Given the description of an element on the screen output the (x, y) to click on. 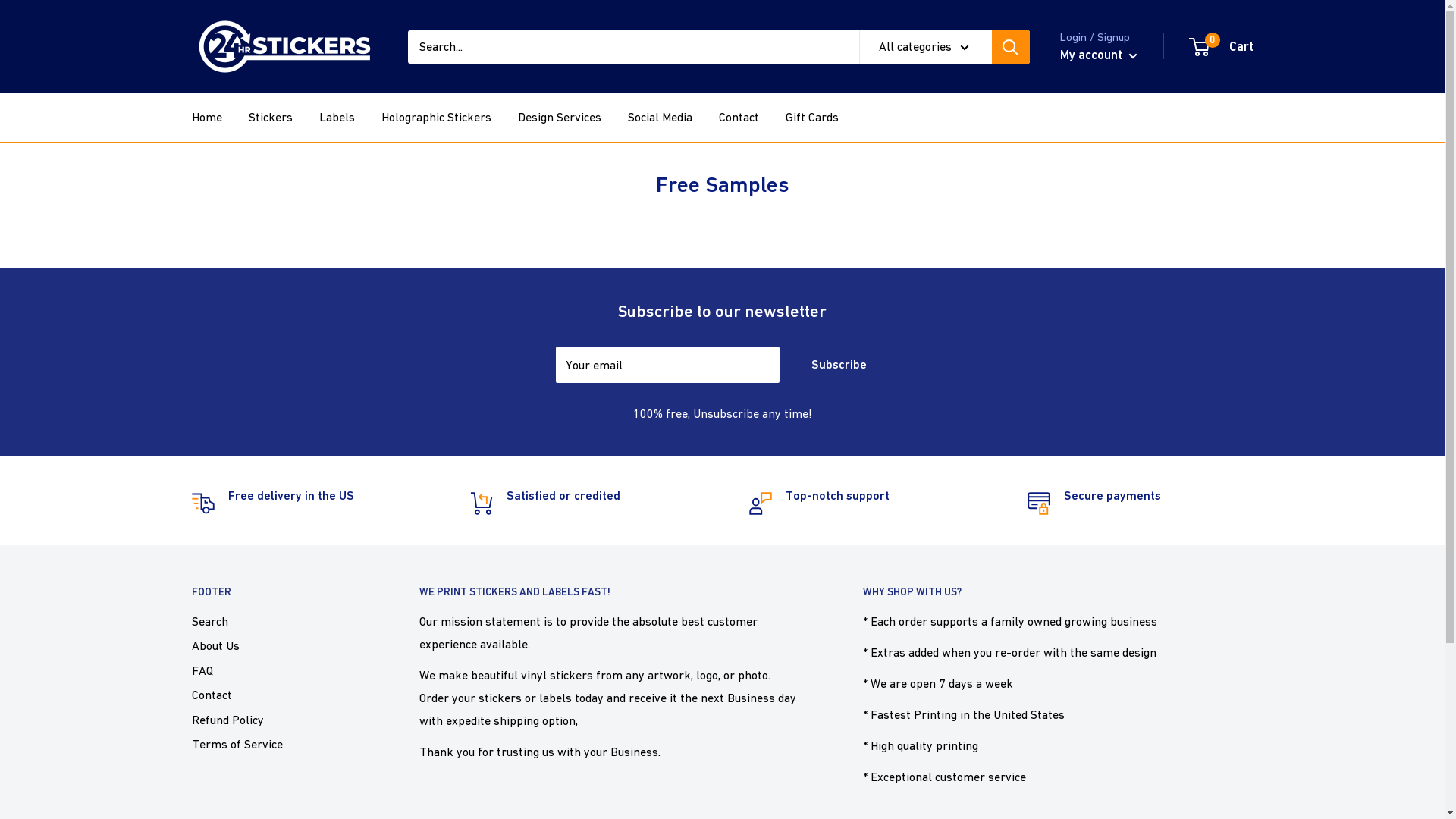
0
Cart Element type: text (1221, 46)
Subscribe Element type: text (838, 364)
FAQ Element type: text (278, 670)
WE PRINT STICKERS AND LABELS FAST! Element type: text (613, 592)
Holographic Stickers Element type: text (435, 117)
Labels Element type: text (336, 117)
Contact Element type: text (738, 117)
Gift Cards Element type: text (811, 117)
About Us Element type: text (278, 645)
Search Element type: text (278, 620)
Design Services Element type: text (558, 117)
FOOTER Element type: text (278, 592)
My account Element type: text (1098, 55)
Refund Policy Element type: text (278, 719)
WHY SHOP WITH US? Element type: text (1057, 592)
Contact Element type: text (278, 694)
Home Element type: text (206, 117)
24hrstickers Element type: text (283, 46)
Stickers Element type: text (270, 117)
Social Media Element type: text (659, 117)
Terms of Service Element type: text (278, 743)
